Given the description of an element on the screen output the (x, y) to click on. 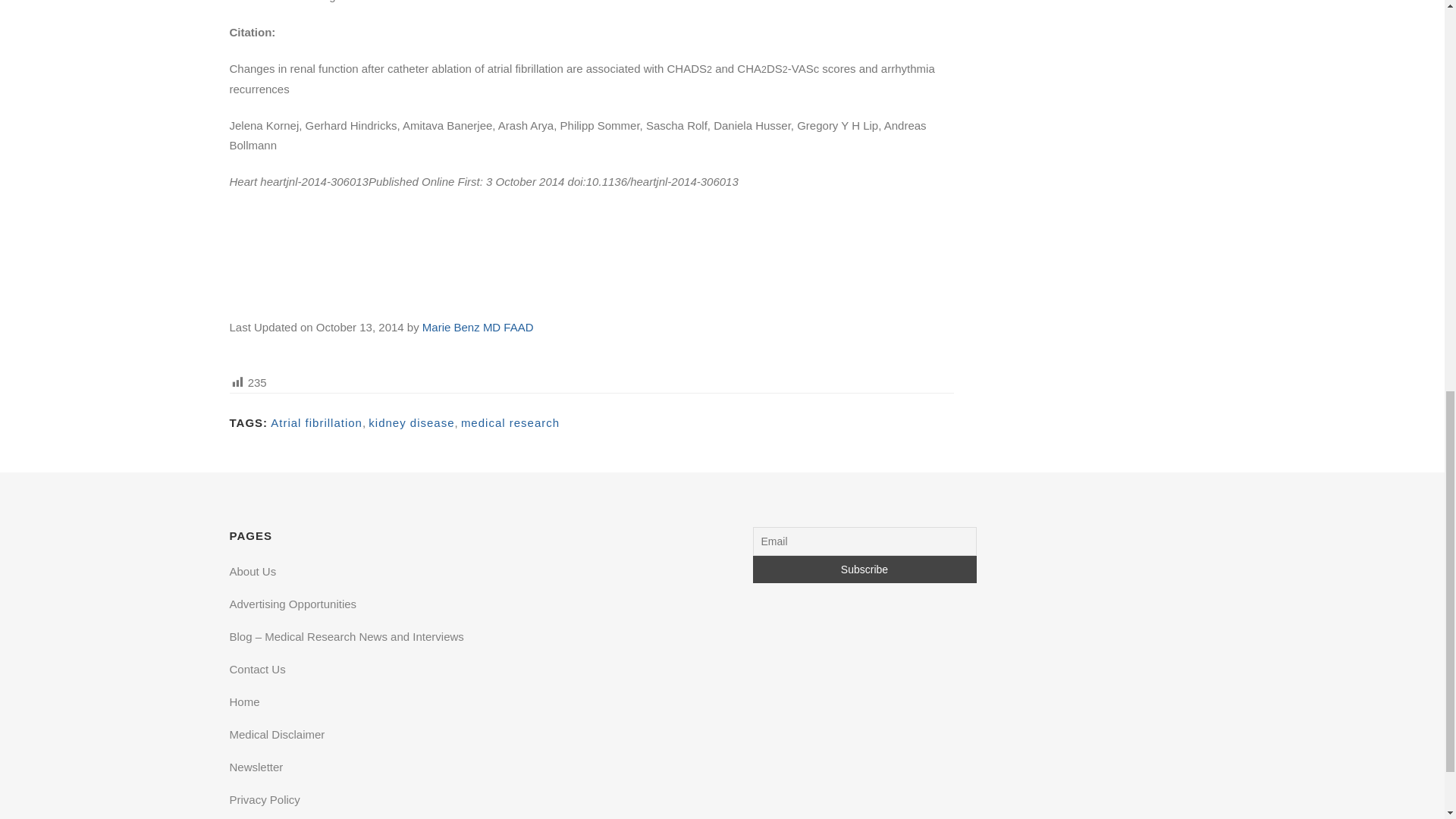
Subscribe (863, 569)
